Given the description of an element on the screen output the (x, y) to click on. 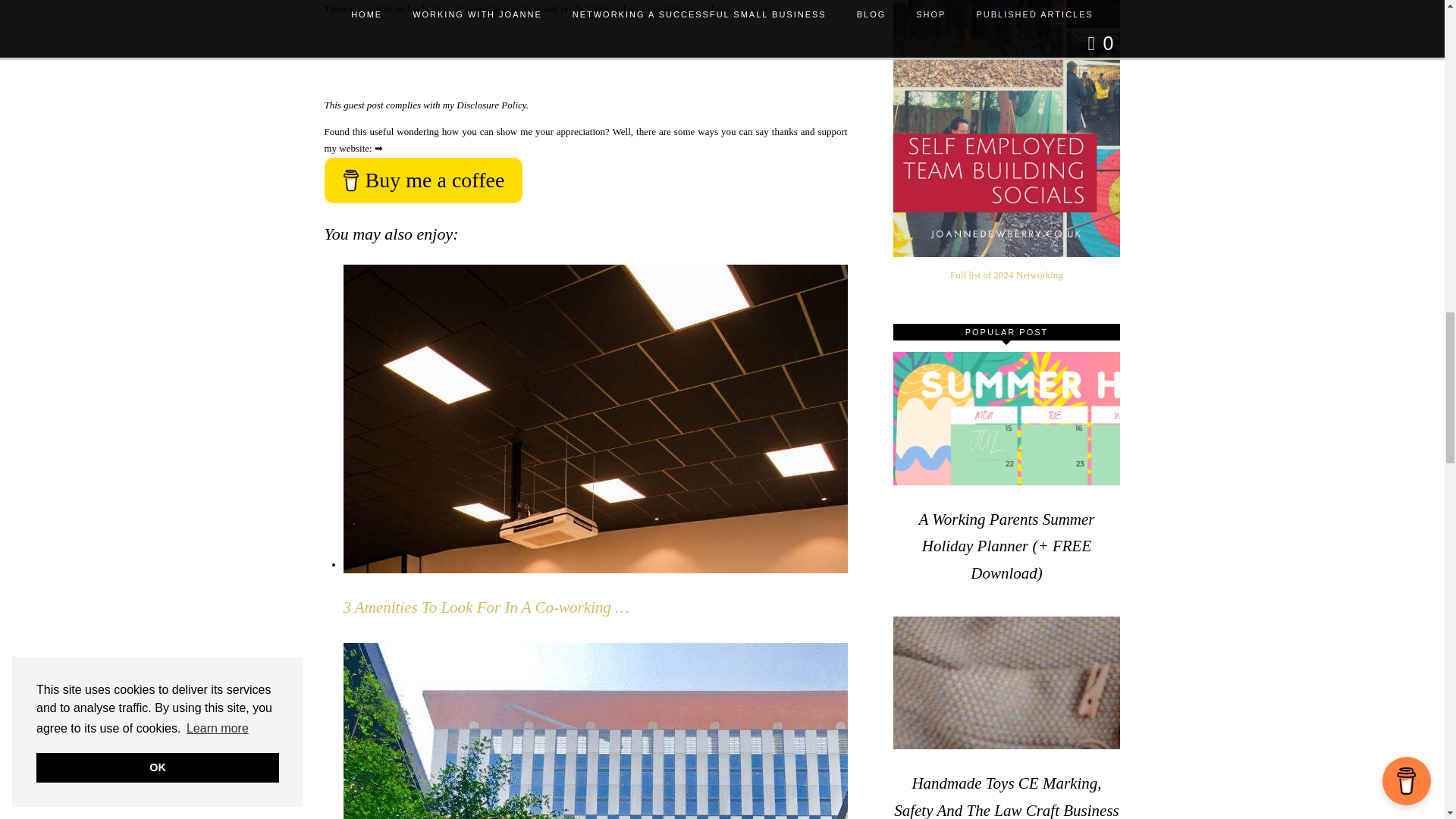
3 Amenities To Look For In A Co-working Space (569, 564)
Buy me a coffee (423, 180)
3 Amenities To Look For In A Co-working Space (485, 607)
